Given the description of an element on the screen output the (x, y) to click on. 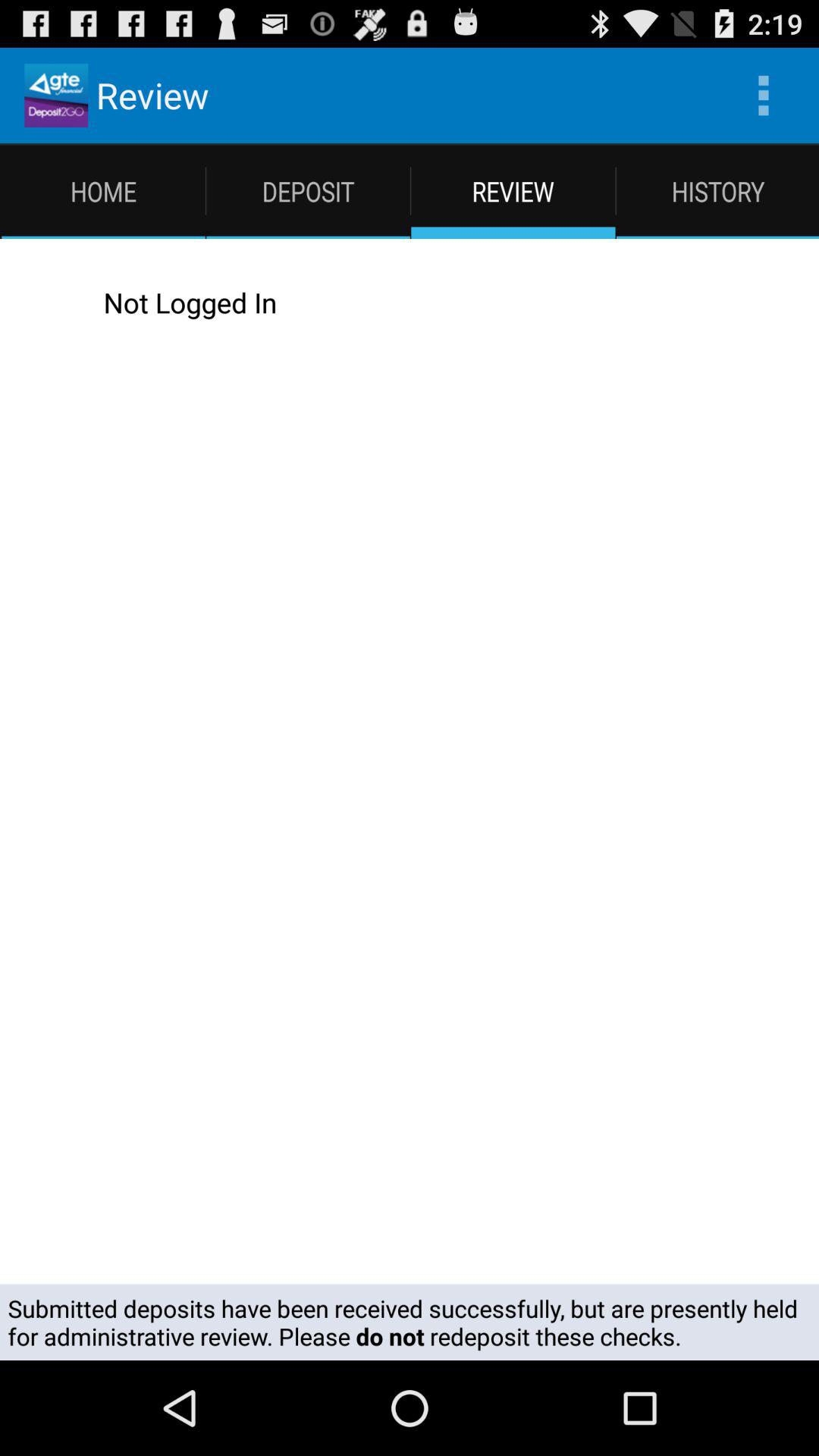
open icon to the left of not logged in icon (41, 302)
